Given the description of an element on the screen output the (x, y) to click on. 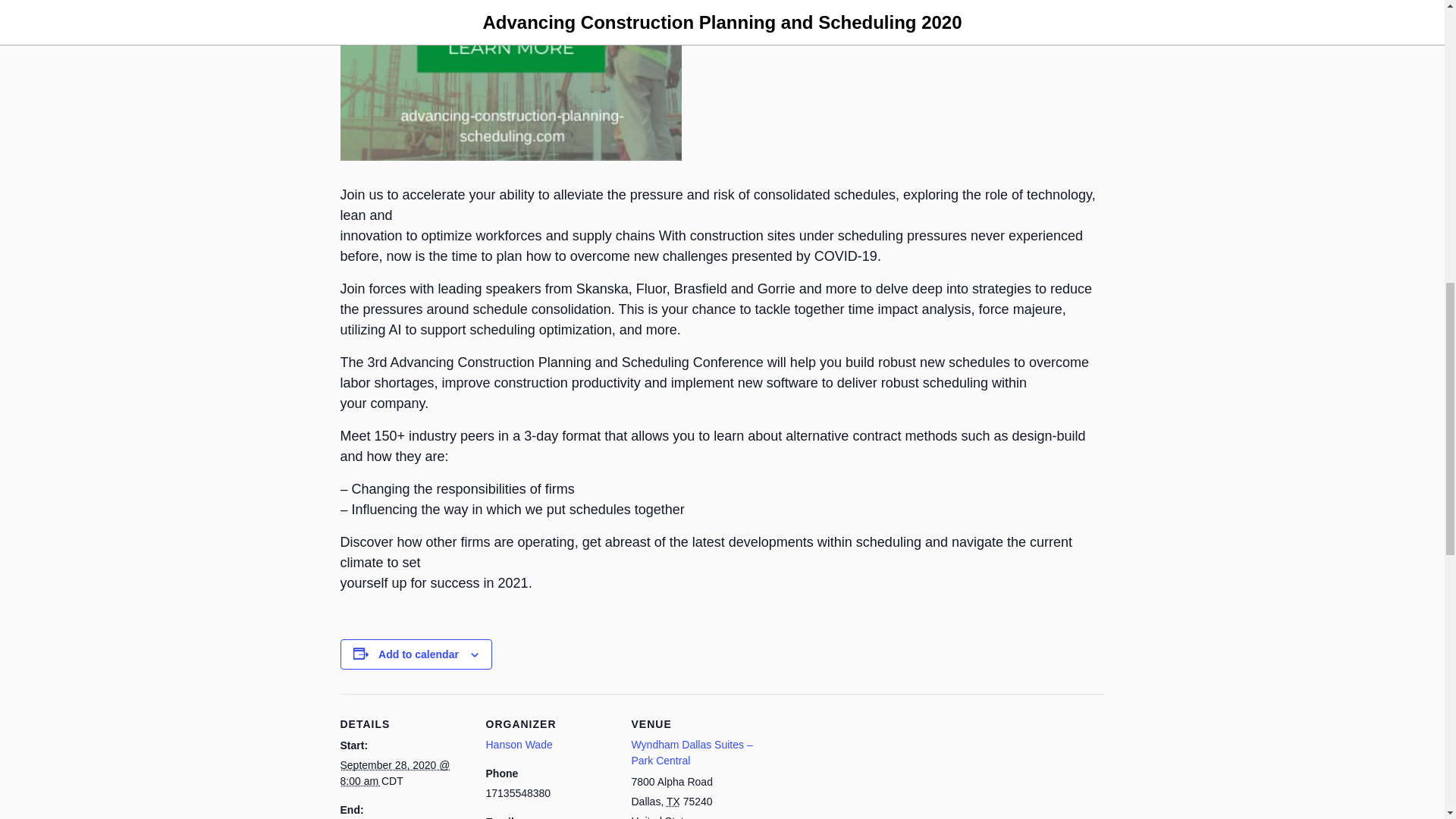
Texas (672, 801)
2020-09-28 (394, 773)
Hanson Wade (517, 744)
